Given the description of an element on the screen output the (x, y) to click on. 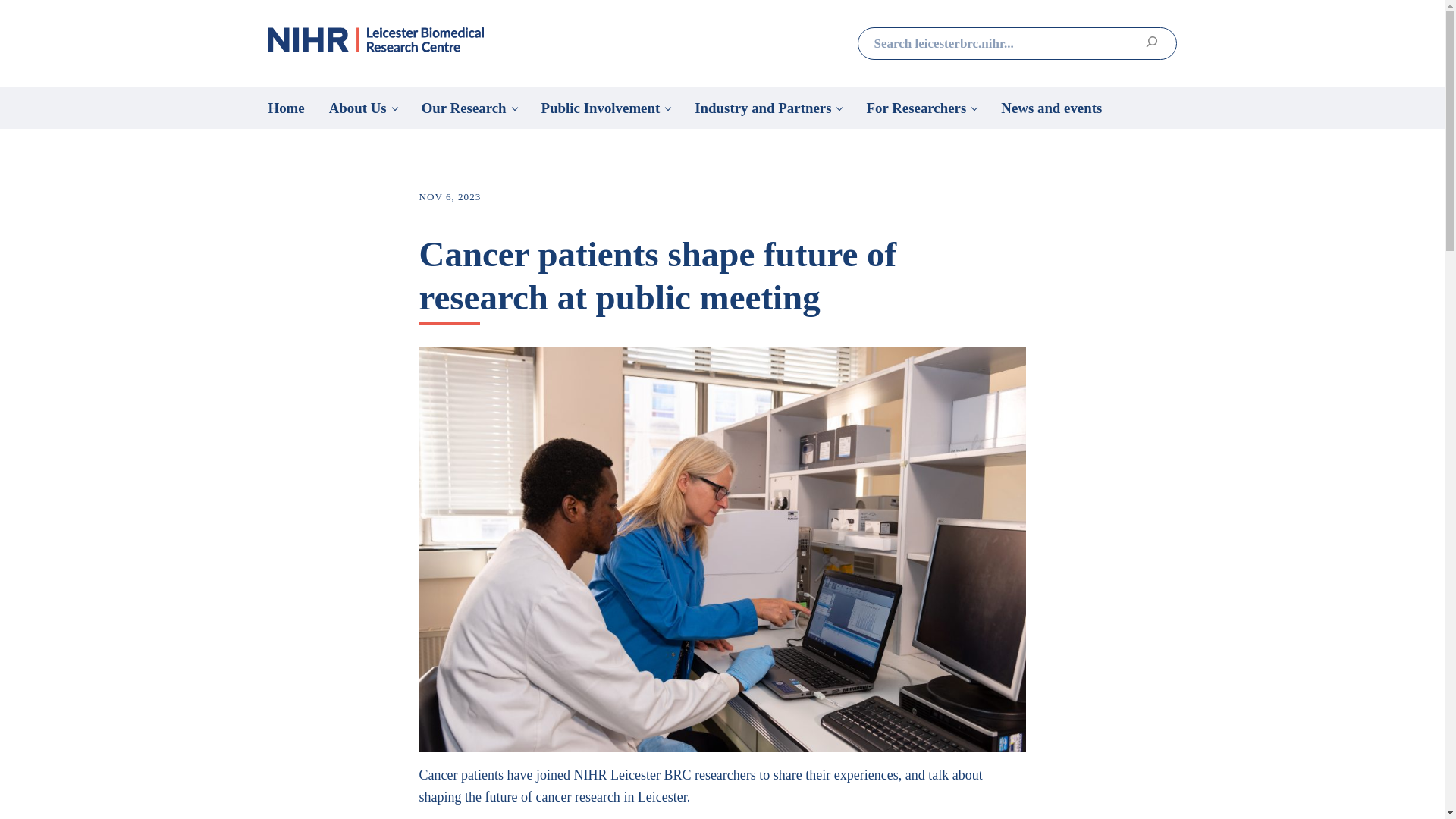
For Researchers (920, 107)
About Us (363, 107)
Our Research (469, 107)
Home (286, 107)
Public Involvement (605, 107)
Industry and Partners (767, 107)
